Given the description of an element on the screen output the (x, y) to click on. 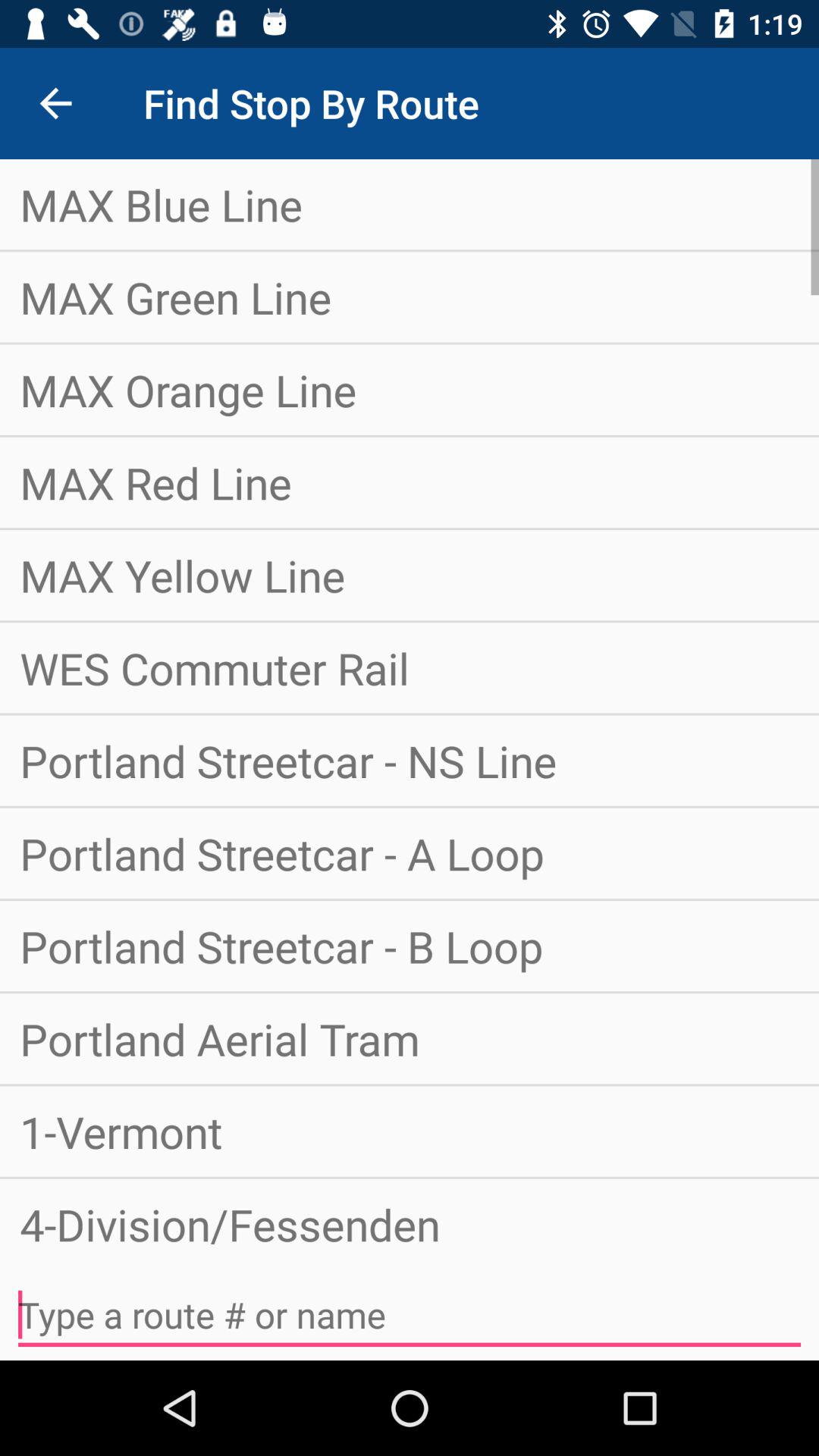
turn off portland aerial tram icon (409, 1038)
